Given the description of an element on the screen output the (x, y) to click on. 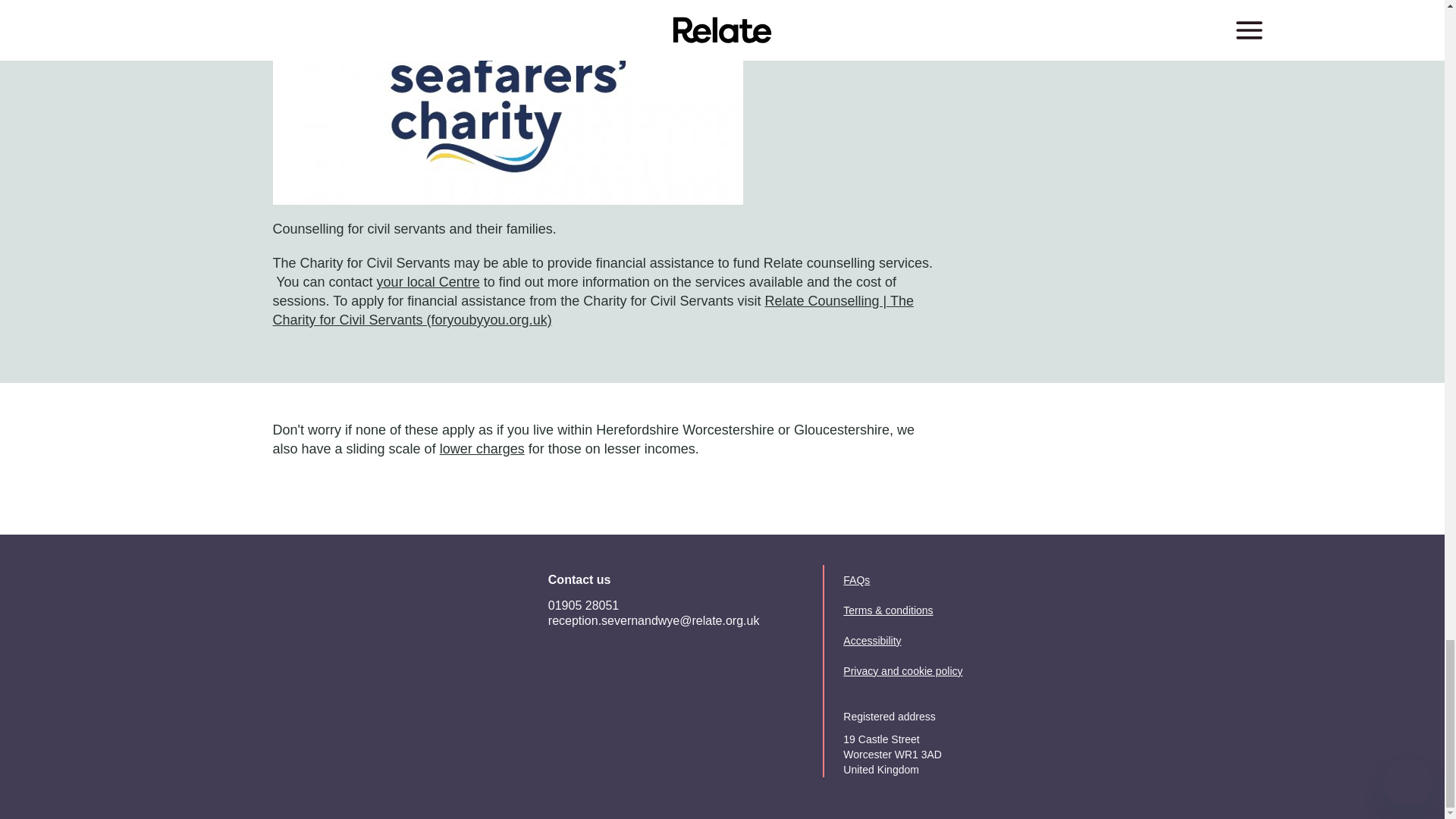
FAQ's (481, 448)
